Given the description of an element on the screen output the (x, y) to click on. 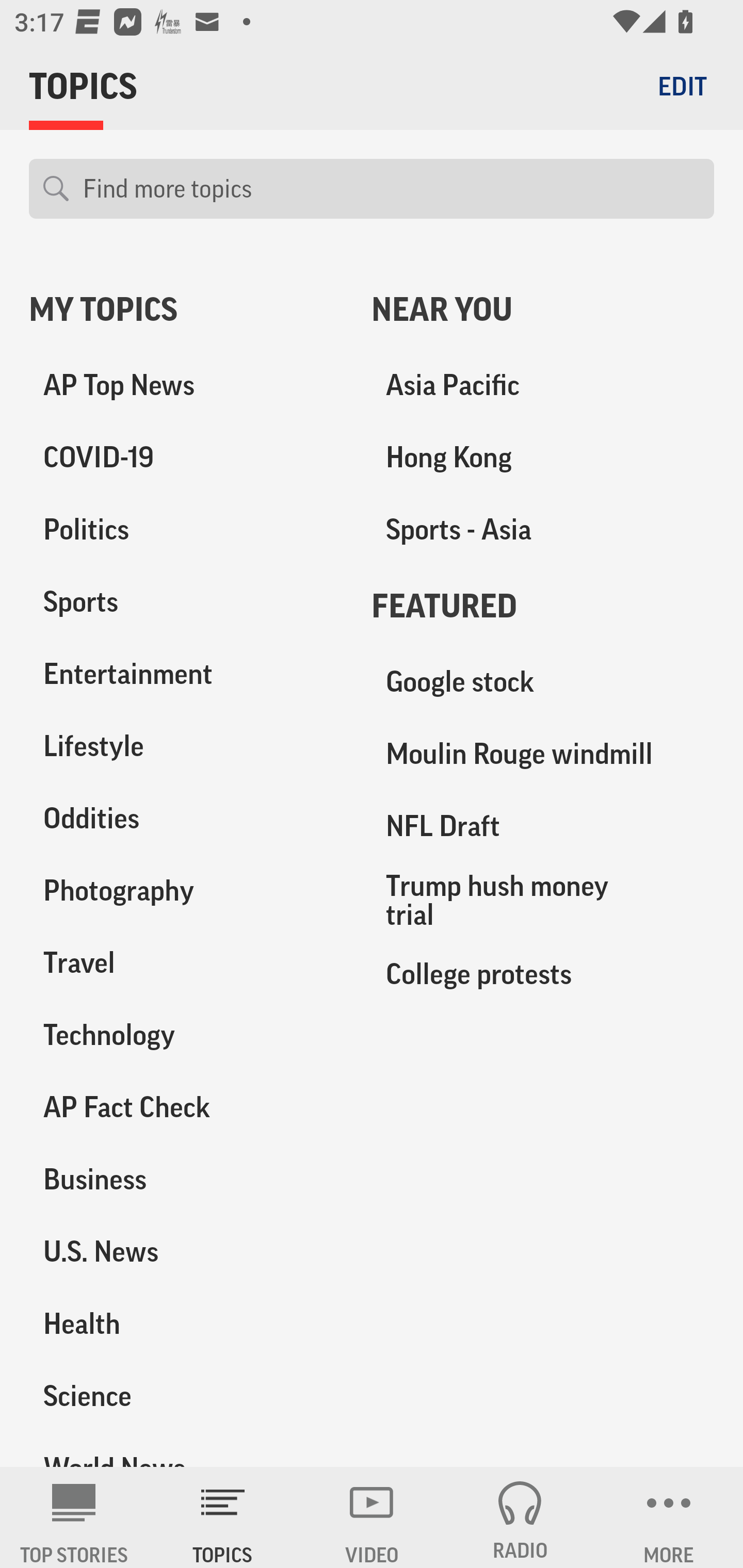
EDIT (682, 86)
Find more topics (391, 188)
AP Top News (185, 385)
Asia Pacific (542, 385)
COVID-19 (185, 457)
Hong Kong (542, 457)
Politics (185, 529)
Sports - Asia (542, 529)
Sports (185, 602)
Entertainment (185, 674)
Google stock (542, 682)
Lifestyle (185, 746)
Moulin Rouge windmill (542, 754)
Oddities (185, 818)
NFL Draft (542, 826)
Photography (185, 890)
Trump hush money trial (542, 899)
Travel (185, 962)
College protests (542, 973)
Technology (185, 1034)
AP Fact Check (185, 1106)
Business (185, 1179)
U.S. News (185, 1251)
Health (185, 1323)
Science (185, 1395)
AP News TOP STORIES (74, 1517)
TOPICS (222, 1517)
VIDEO (371, 1517)
RADIO (519, 1517)
MORE (668, 1517)
